Given the description of an element on the screen output the (x, y) to click on. 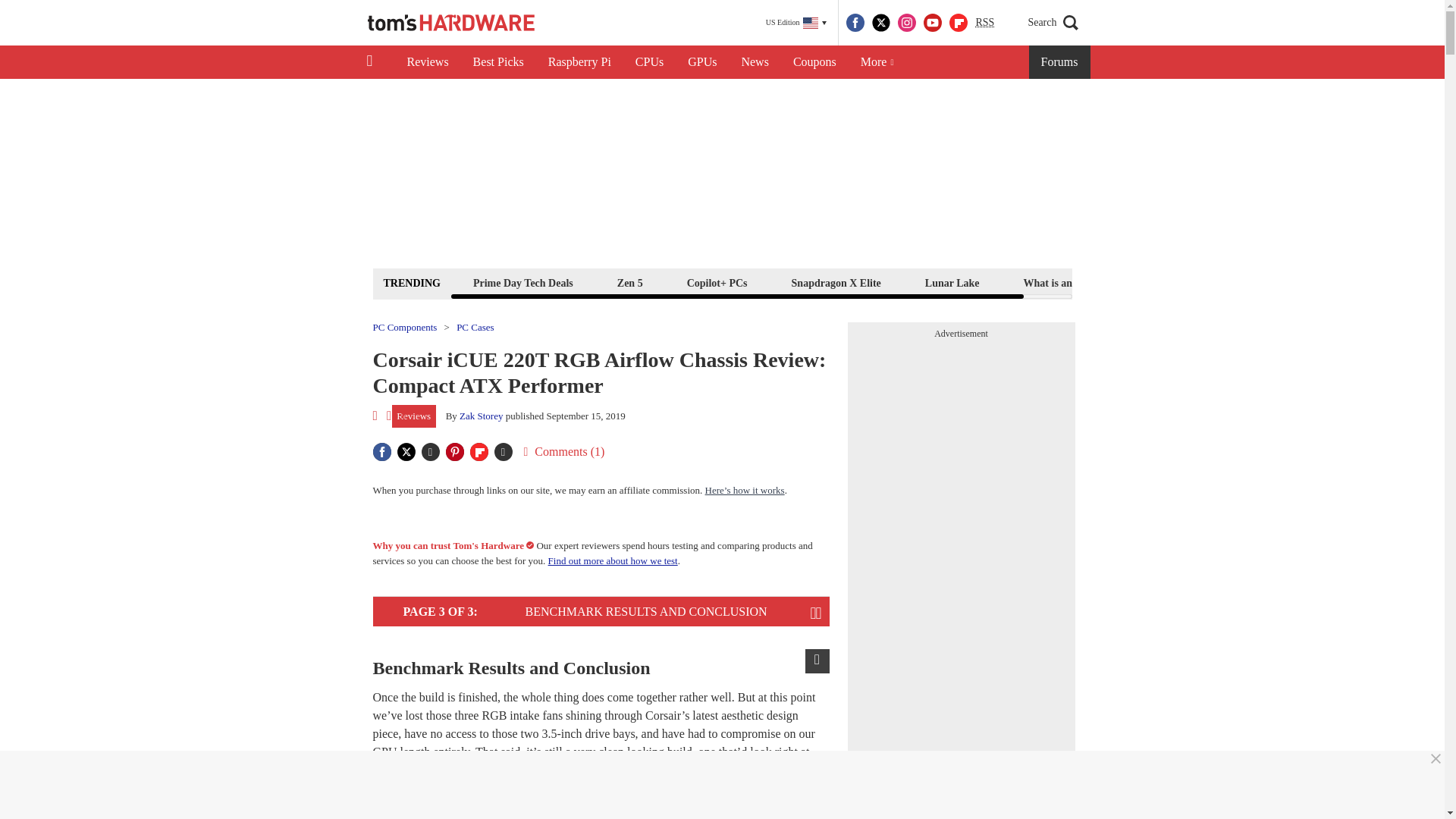
Really Simple Syndication (984, 21)
Forums (1059, 61)
Reviews (427, 61)
Raspberry Pi (579, 61)
CPUs (649, 61)
News (754, 61)
GPUs (702, 61)
Prime Day Tech Deals (522, 282)
US Edition (796, 22)
Best Picks (498, 61)
RSS (984, 22)
